Given the description of an element on the screen output the (x, y) to click on. 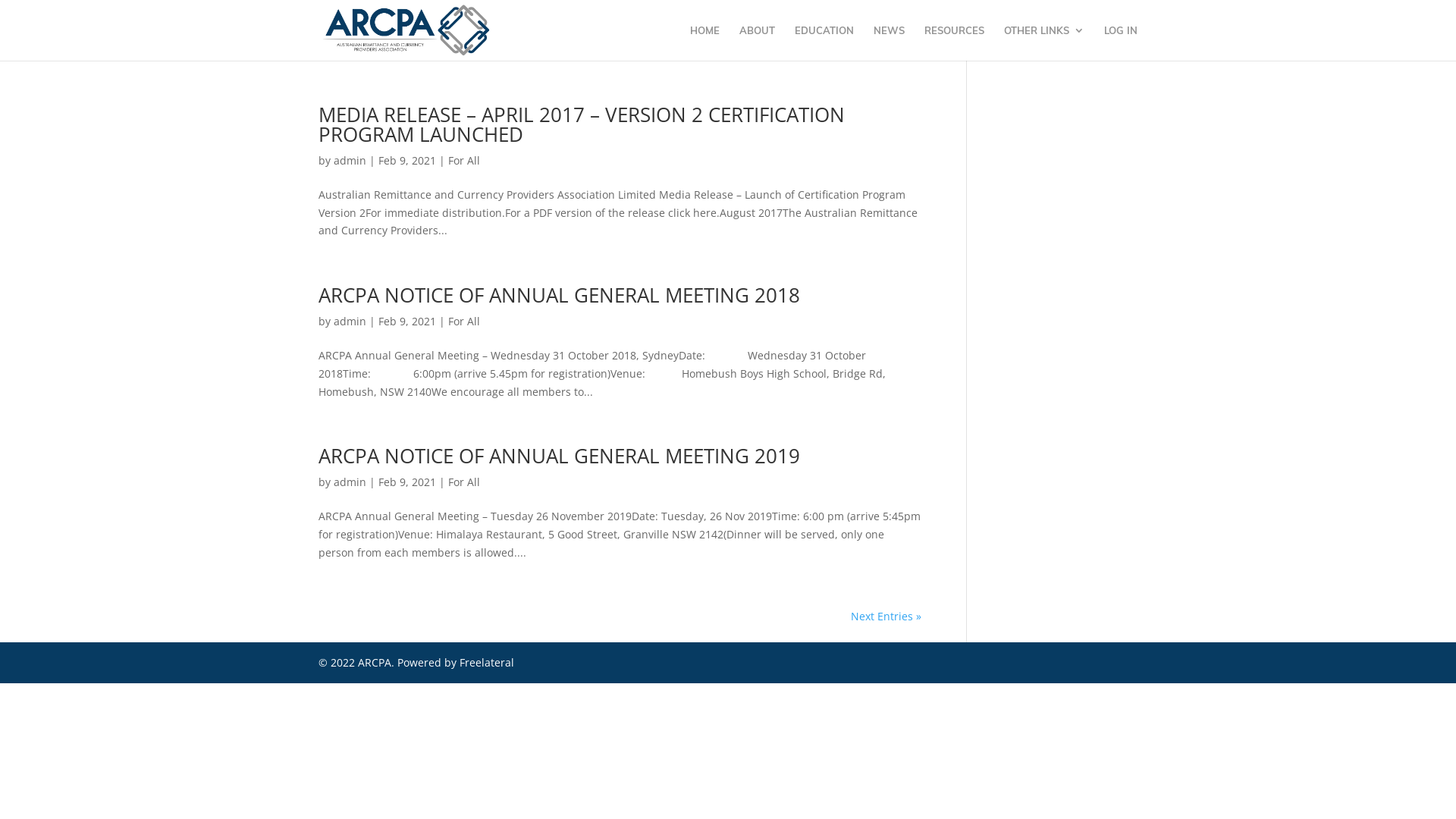
LOG IN Element type: text (1120, 42)
admin Element type: text (349, 320)
ABOUT Element type: text (757, 42)
admin Element type: text (349, 481)
NEWS Element type: text (888, 42)
For All Element type: text (464, 160)
EDUCATION Element type: text (823, 42)
RESOURCES Element type: text (954, 42)
ARCPA NOTICE OF ANNUAL GENERAL MEETING 2018 Element type: text (559, 294)
OTHER LINKS Element type: text (1044, 42)
HOME Element type: text (704, 42)
ARCPA NOTICE OF ANNUAL GENERAL MEETING 2019 Element type: text (559, 455)
For All Element type: text (464, 481)
For All Element type: text (464, 320)
admin Element type: text (349, 160)
